Given the description of an element on the screen output the (x, y) to click on. 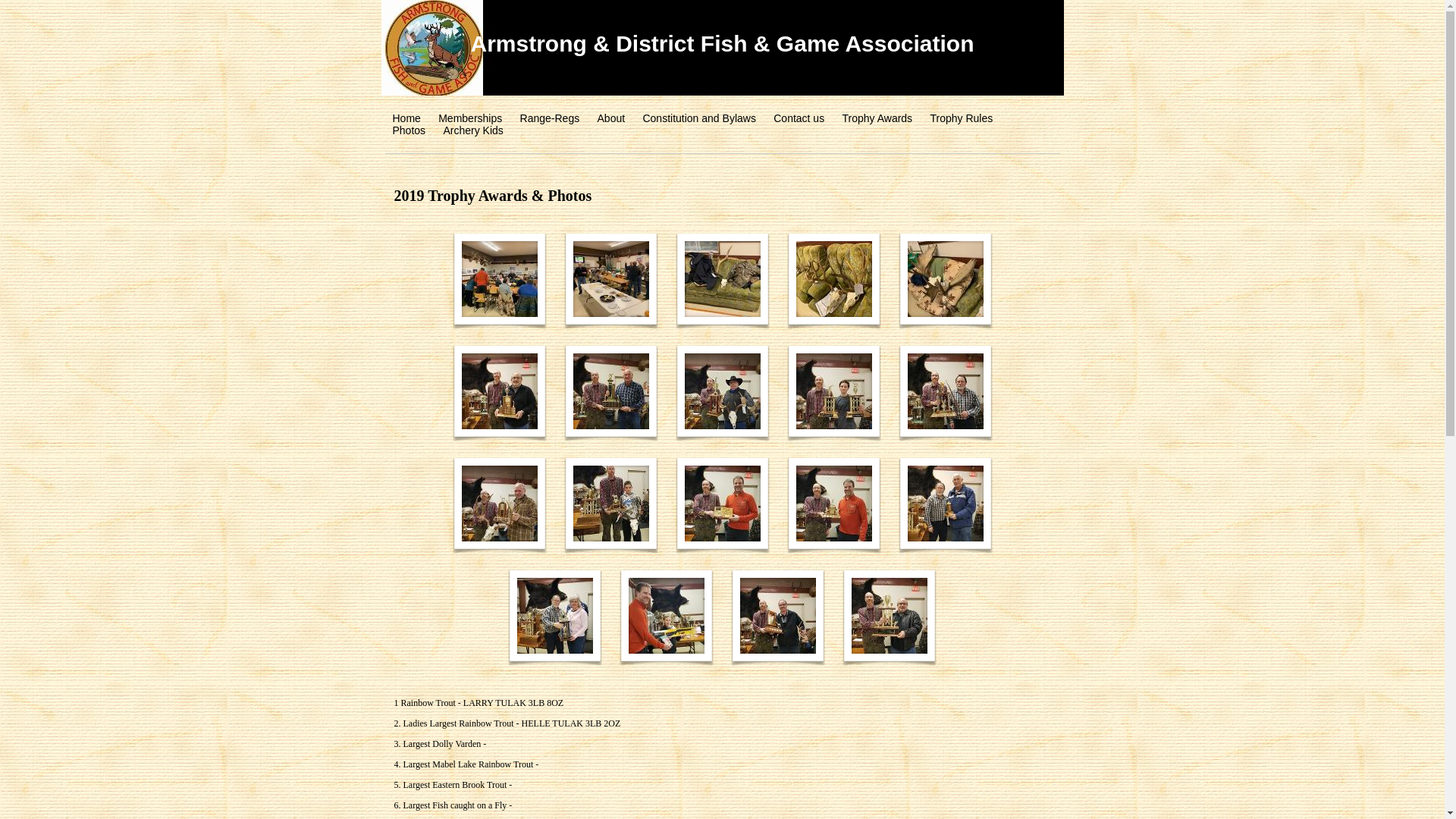
Photos Element type: text (409, 130)
Armstrong & District Fish & Game Association Element type: text (721, 43)
Trophy Rules Element type: text (960, 118)
Range-Regs Element type: text (550, 118)
Trophy Awards Element type: text (877, 118)
Contact us Element type: text (798, 118)
Archery Kids Element type: text (472, 130)
Memberships Element type: text (470, 118)
Home Element type: text (406, 118)
About Element type: text (611, 118)
Constitution and Bylaws Element type: text (698, 118)
